Given the description of an element on the screen output the (x, y) to click on. 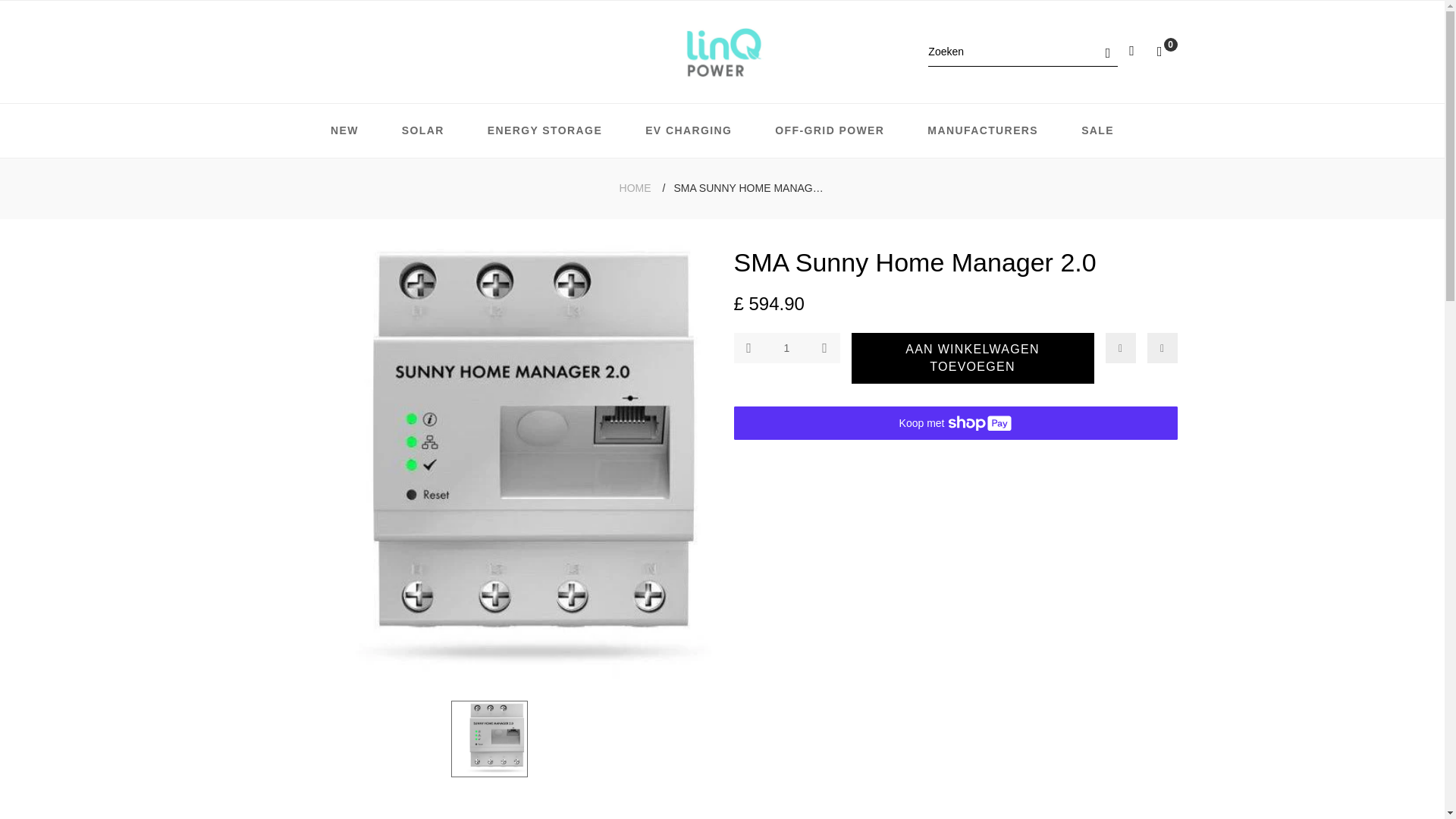
Add to Wishlist (1120, 347)
Home (635, 188)
1 (786, 347)
Add to Compare (1161, 347)
